Given the description of an element on the screen output the (x, y) to click on. 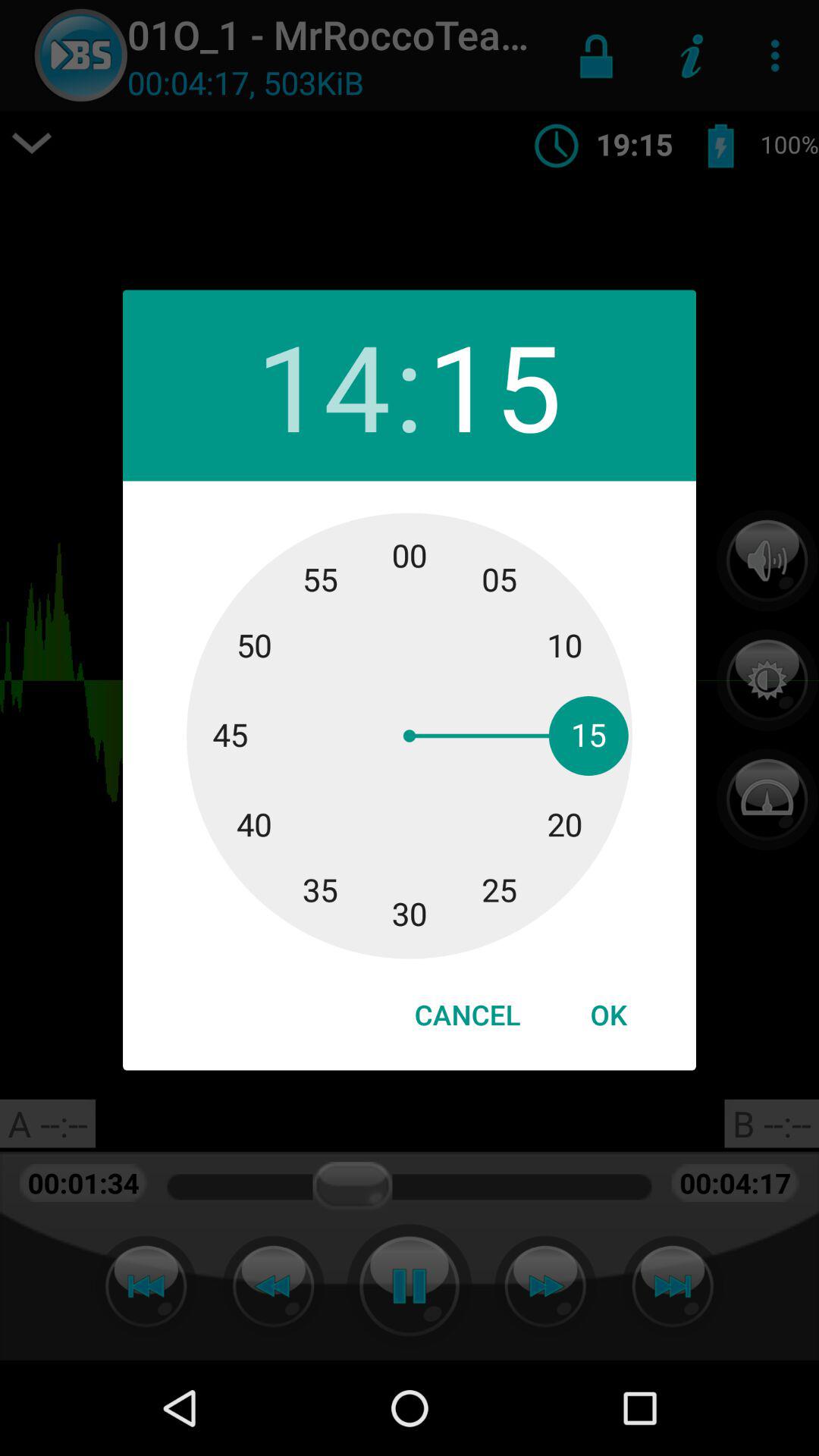
swipe until the 15 icon (494, 384)
